Given the description of an element on the screen output the (x, y) to click on. 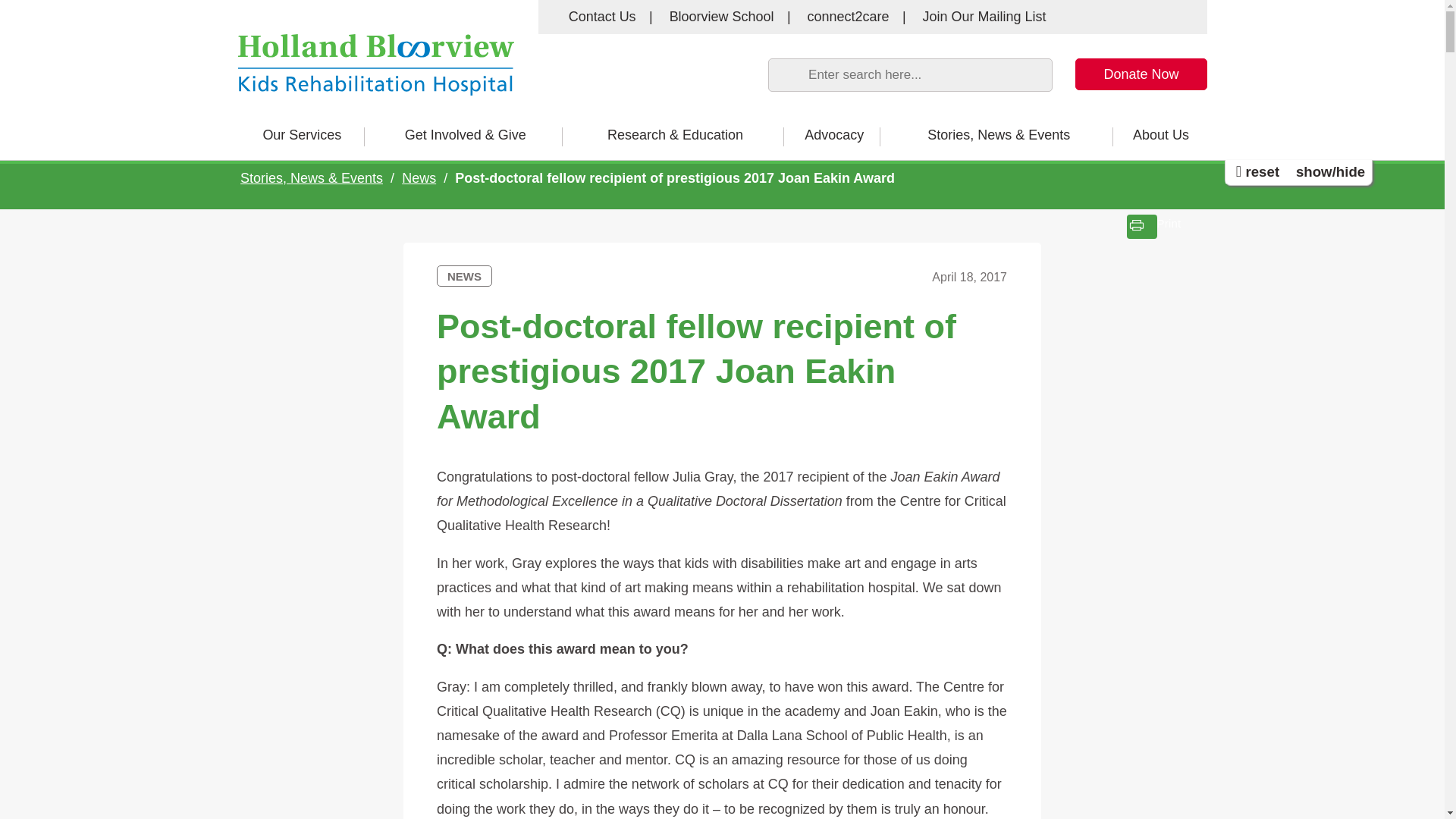
Contact Us (602, 16)
About Us (1161, 135)
Bloorview School (721, 16)
News (418, 178)
Advocacy (834, 135)
Join Our Mailing List (984, 16)
Donate Now (1141, 74)
connect2care (848, 16)
Our Services (302, 135)
